Given the description of an element on the screen output the (x, y) to click on. 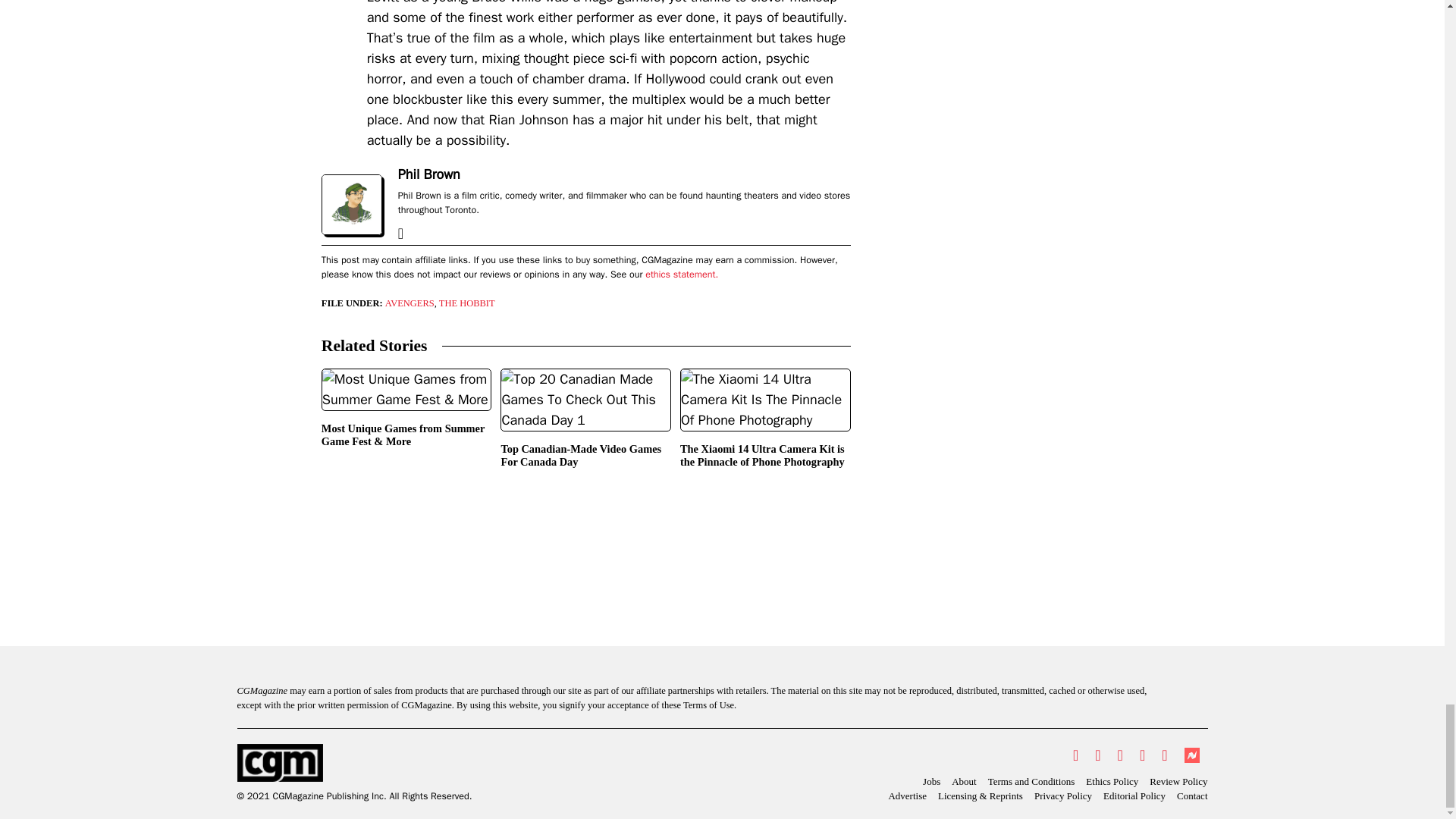
CGMagazine (353, 762)
Facebook Page (1097, 754)
Phil Brown (428, 174)
Twitter Profile (1075, 754)
